Given the description of an element on the screen output the (x, y) to click on. 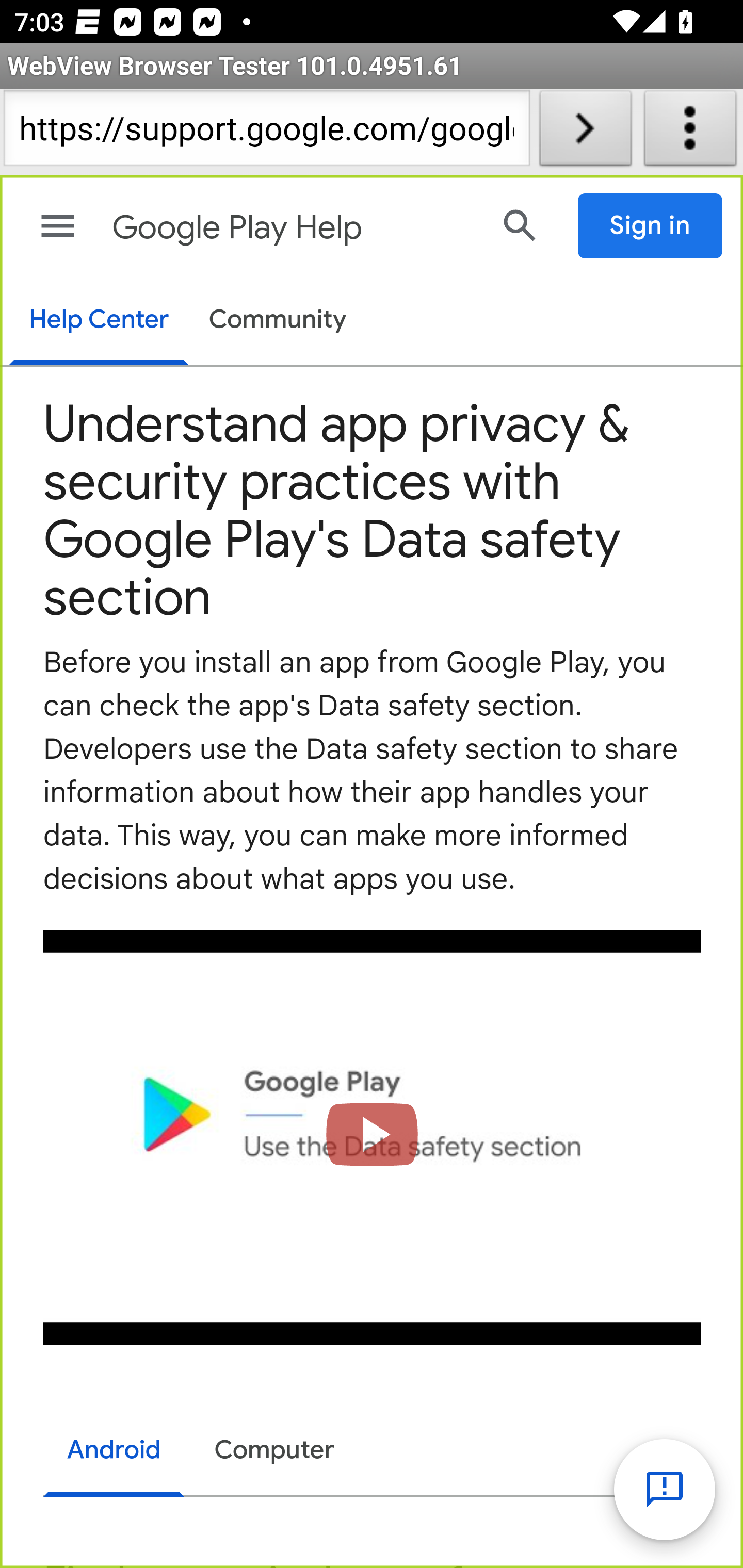
Load URL (585, 132)
About WebView (690, 132)
Main menu (58, 226)
Google Play Help (292, 227)
Search Help Center (519, 225)
Sign in (650, 226)
Help Center (98, 320)
Community (277, 320)
Load video (372, 1137)
Load video (372, 1137)
Android (114, 1452)
Computer (273, 1450)
